Given the description of an element on the screen output the (x, y) to click on. 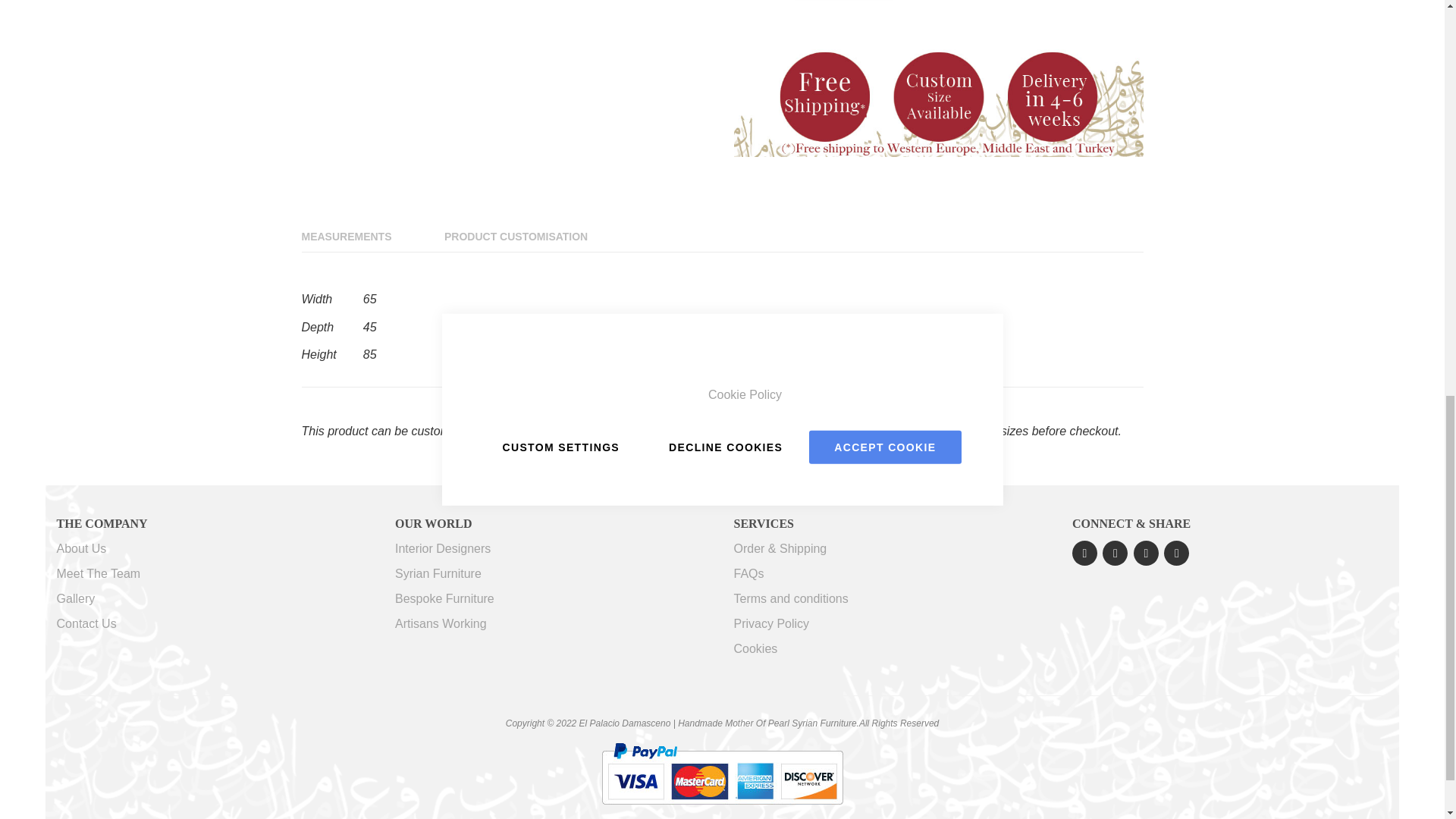
Paypal (721, 773)
